Given the description of an element on the screen output the (x, y) to click on. 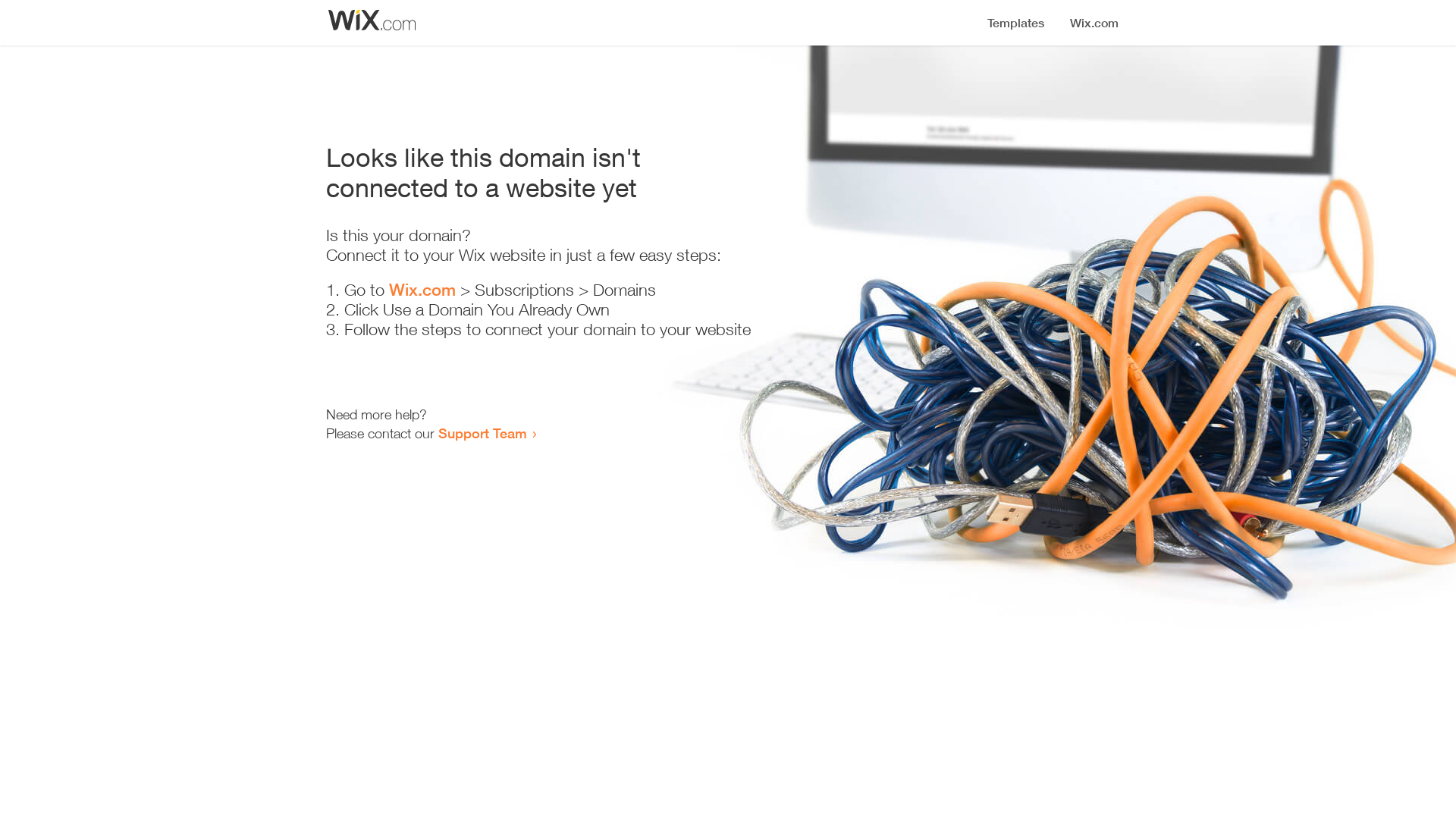
Wix.com Element type: text (422, 289)
Support Team Element type: text (482, 432)
